Given the description of an element on the screen output the (x, y) to click on. 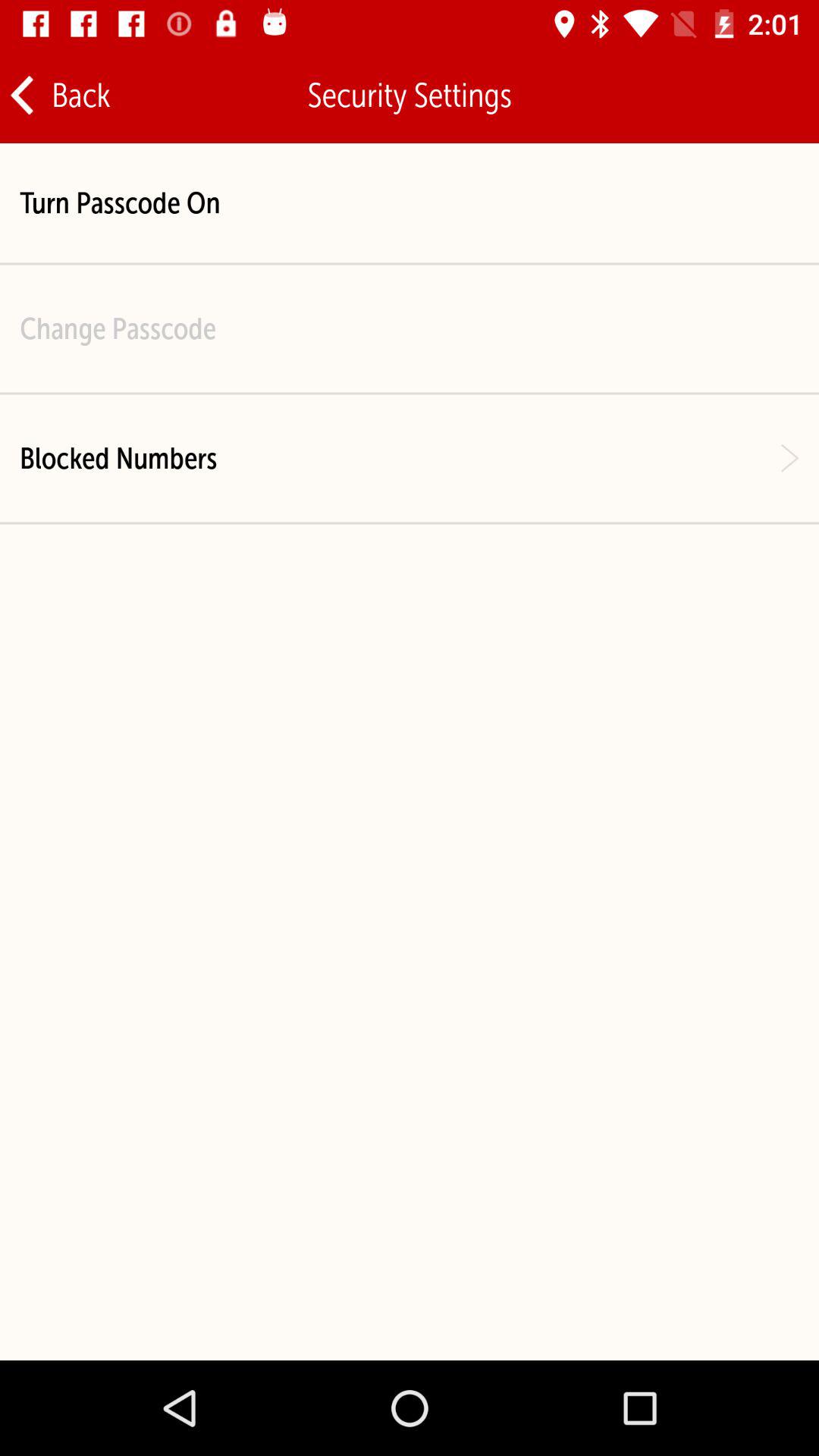
launch item next to security settings item (759, 95)
